Given the description of an element on the screen output the (x, y) to click on. 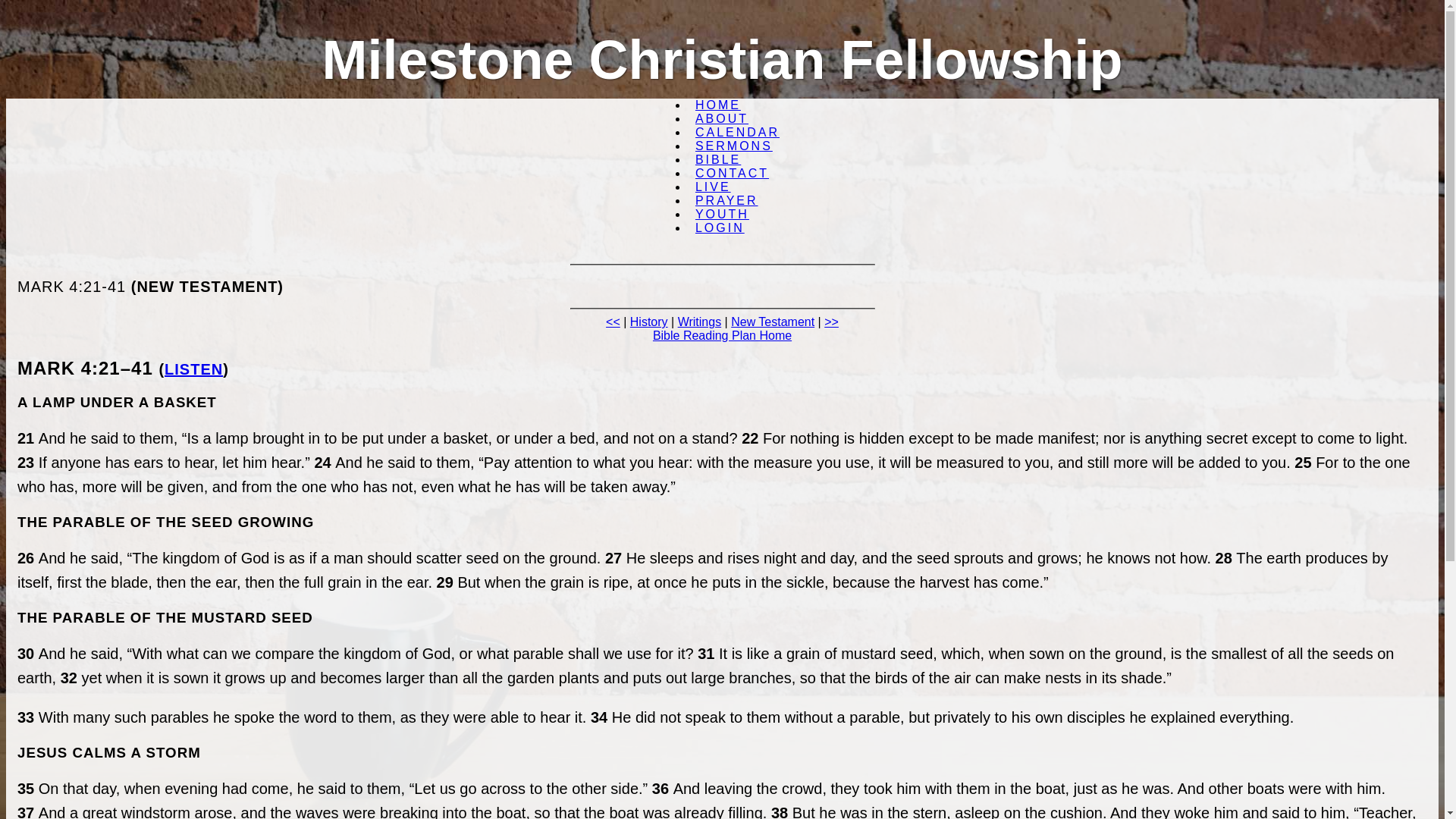
New Testament (771, 321)
BIBLE (717, 159)
SERMONS (733, 145)
LISTEN (193, 369)
History (649, 321)
CALENDAR (737, 132)
YOUTH (722, 214)
Bible Reading Plan Home (722, 335)
ABOUT (721, 118)
LIVE (712, 186)
CONTACT (731, 173)
LOGIN (719, 227)
PRAYER (726, 200)
HOME (717, 104)
Writings (700, 321)
